Given the description of an element on the screen output the (x, y) to click on. 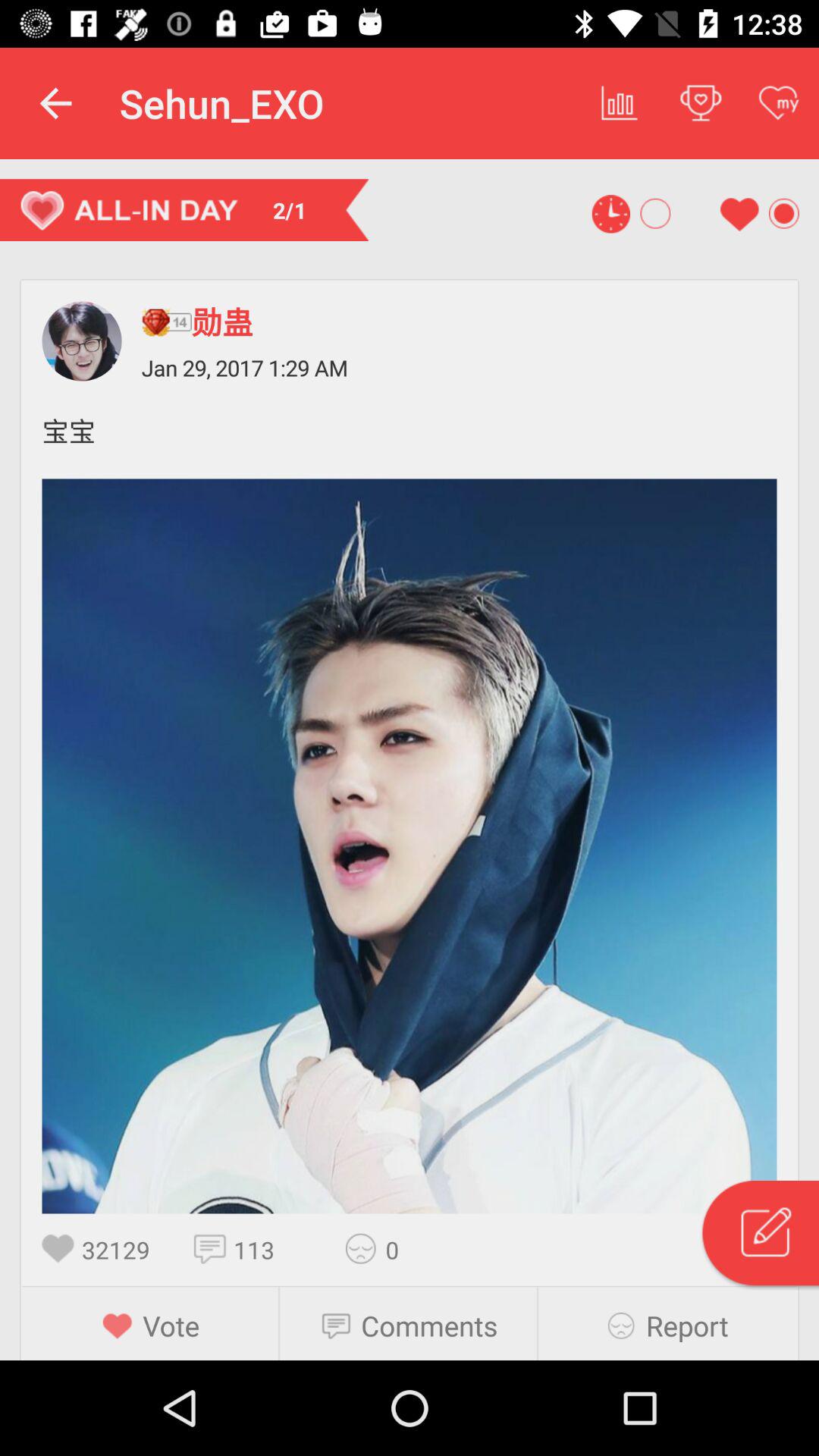
edit option (759, 1235)
